Given the description of an element on the screen output the (x, y) to click on. 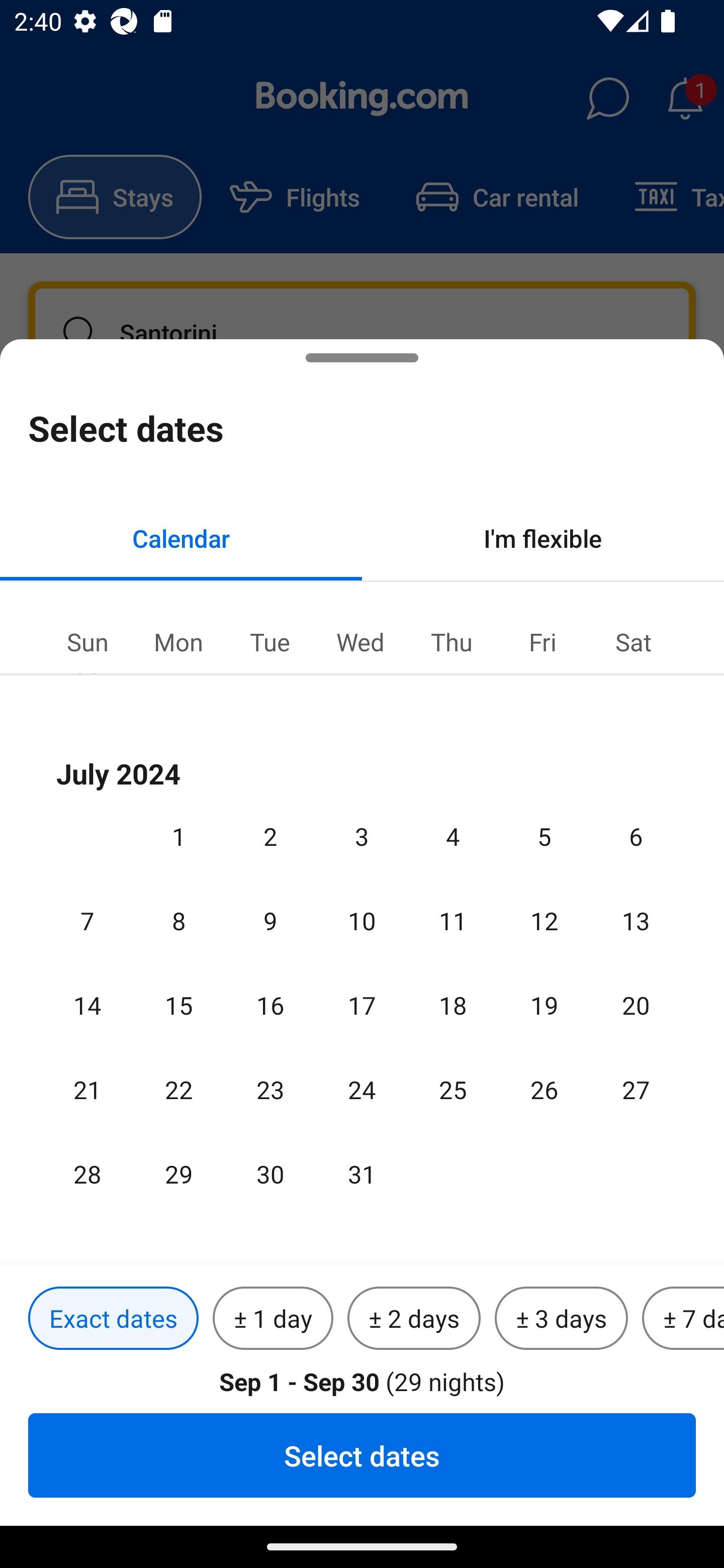
I'm flexible (543, 537)
Exact dates (113, 1318)
± 1 day (272, 1318)
± 2 days (413, 1318)
± 3 days (560, 1318)
± 7 days (683, 1318)
Select dates (361, 1454)
